Given the description of an element on the screen output the (x, y) to click on. 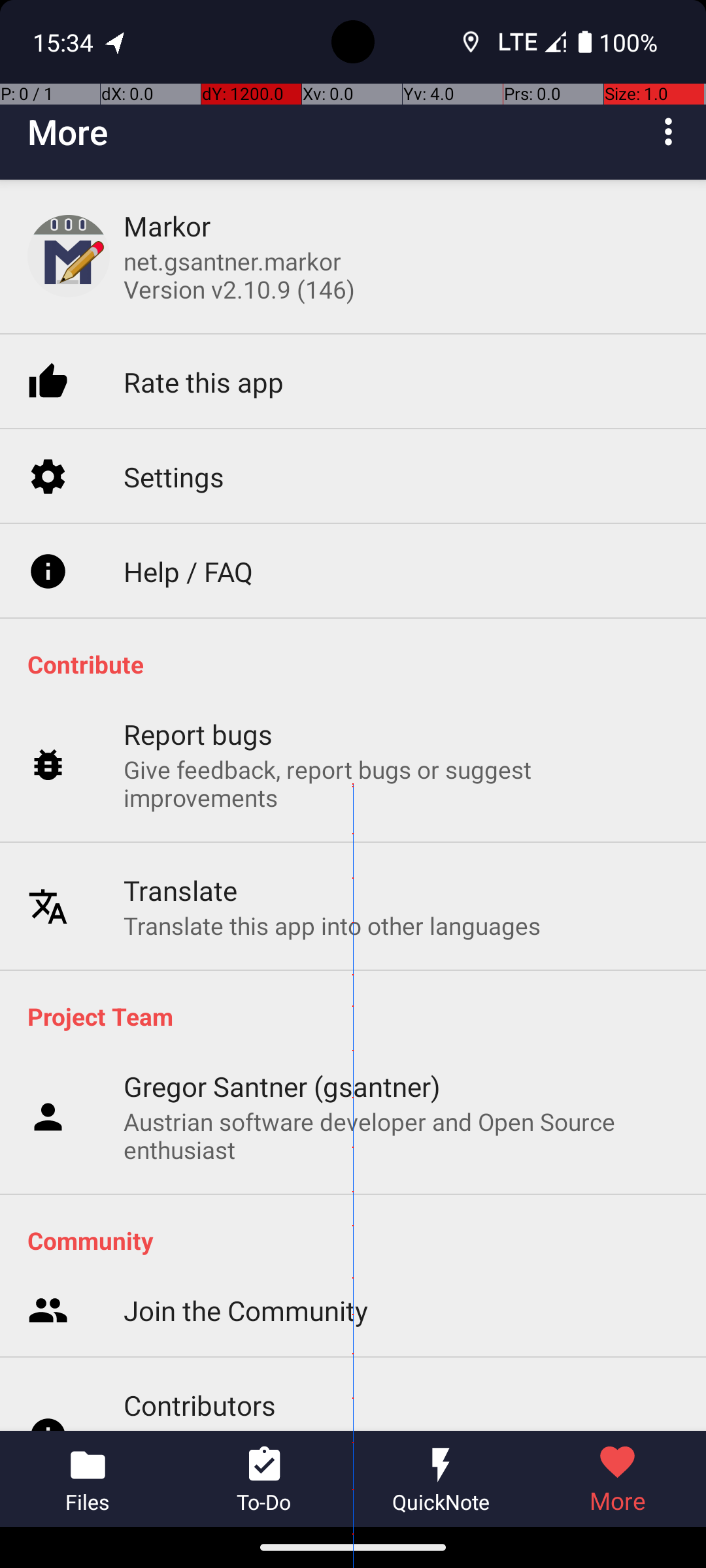
OpenTracks notification:  Element type: android.widget.ImageView (115, 41)
